Given the description of an element on the screen output the (x, y) to click on. 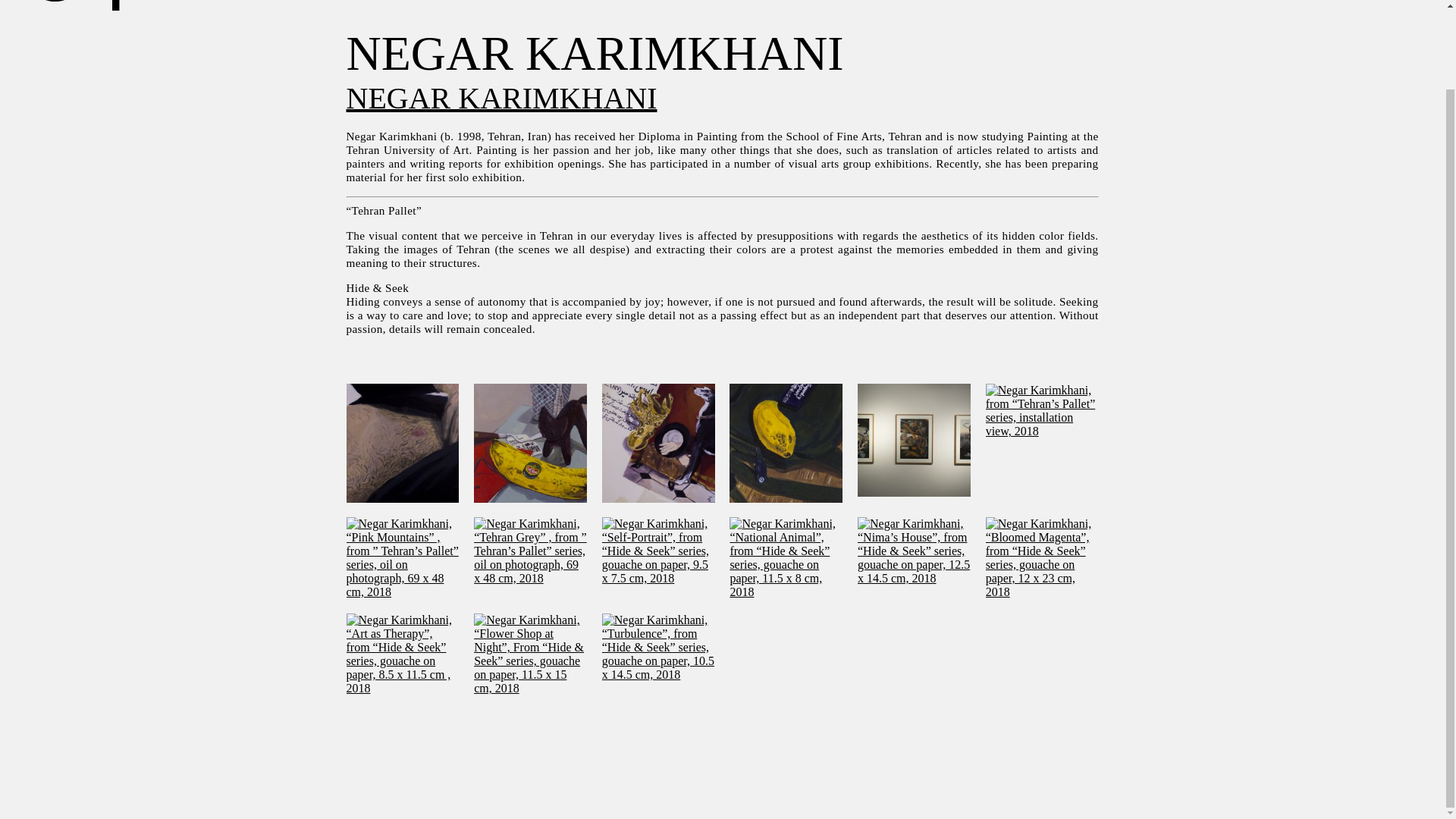
NEGAR KARIMKHANI (501, 97)
